Given the description of an element on the screen output the (x, y) to click on. 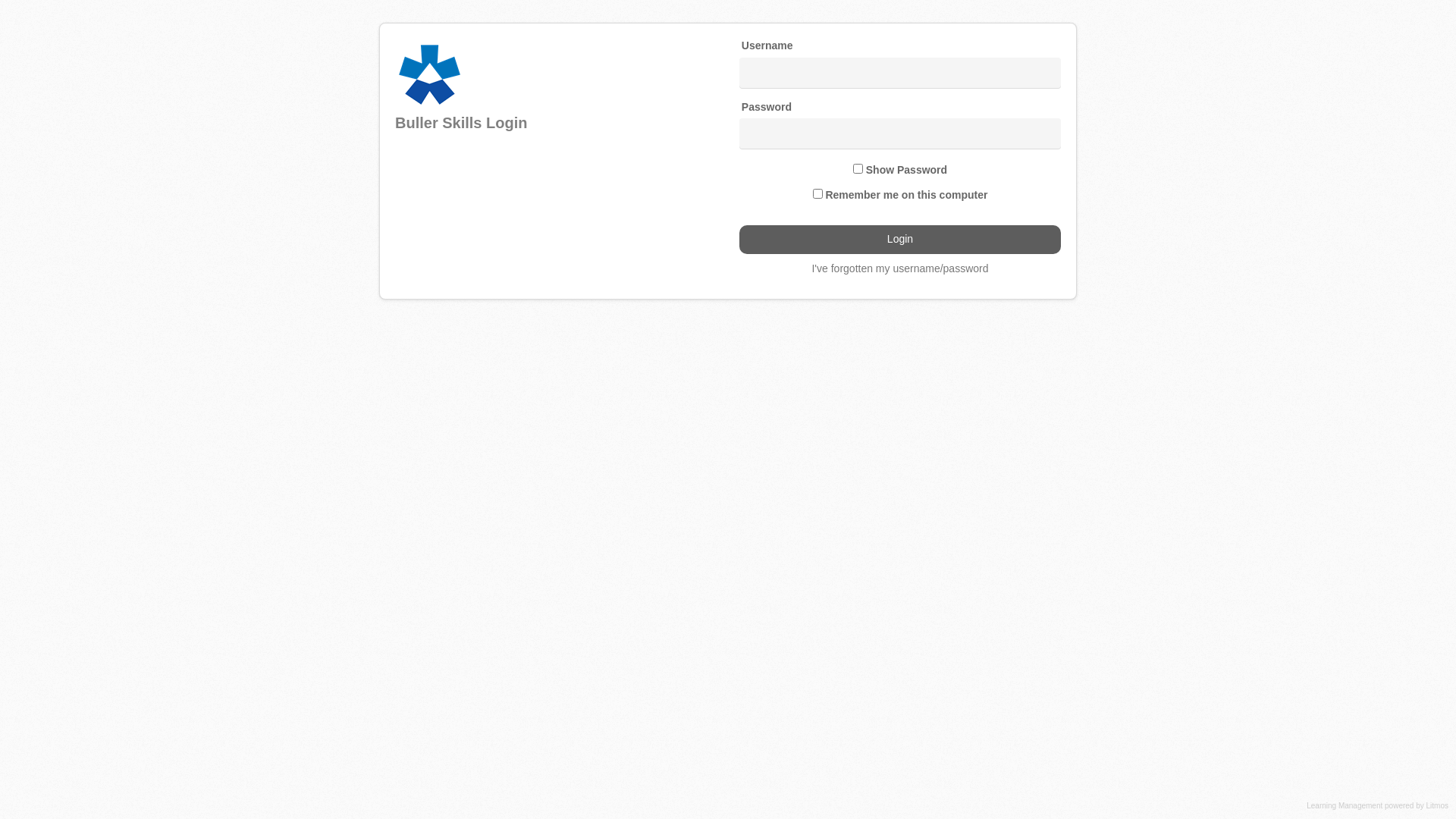
 Login  Element type: text (899, 239)
I've forgotten my username/password Element type: text (899, 268)
Learning Management Element type: text (1344, 805)
